Given the description of an element on the screen output the (x, y) to click on. 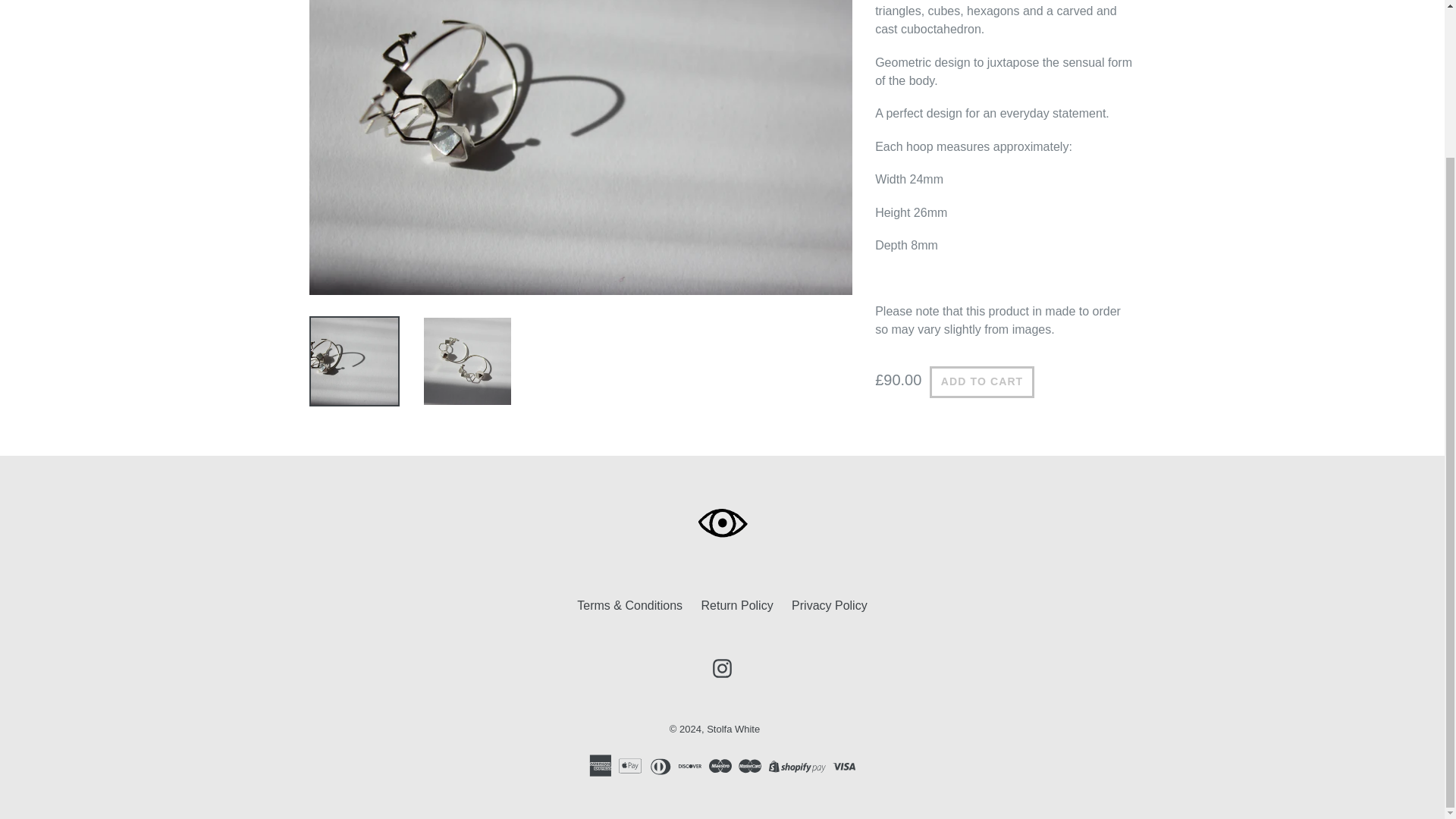
Stolfa White on Instagram (721, 668)
Stolfa White (733, 728)
Return Policy (736, 604)
ADD TO CART (981, 381)
Instagram (721, 668)
Privacy Policy (829, 604)
